Given the description of an element on the screen output the (x, y) to click on. 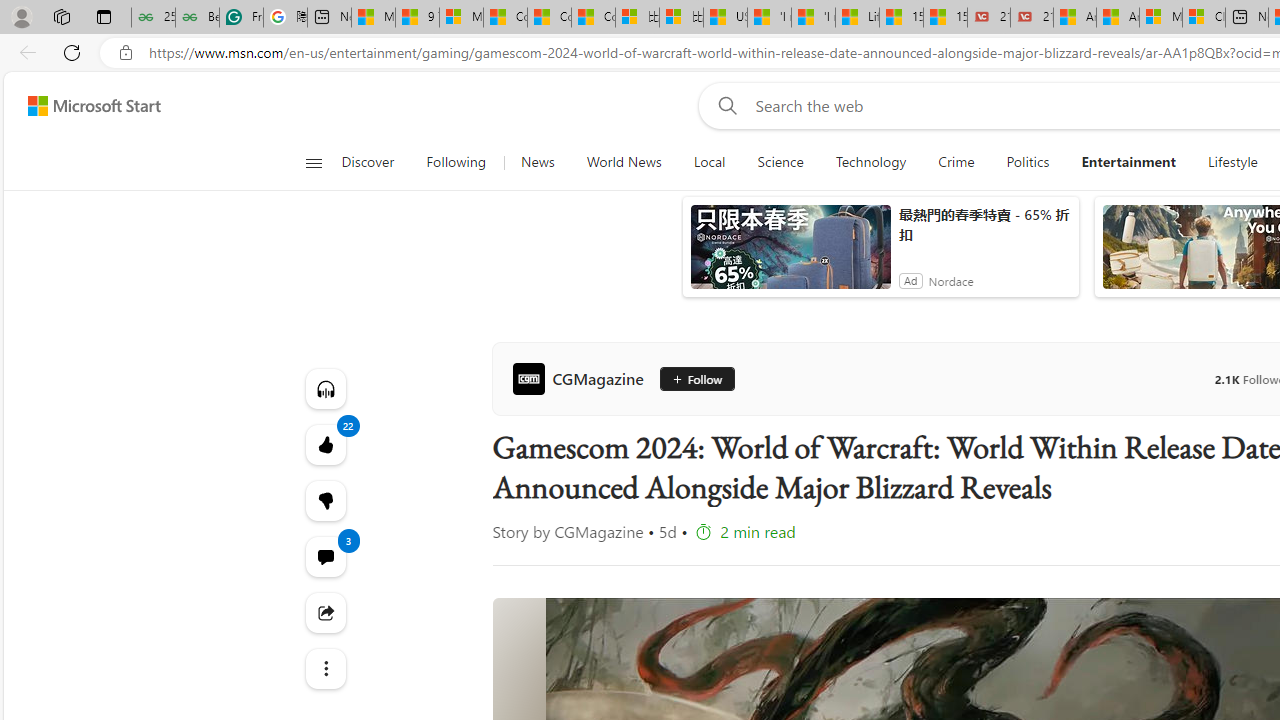
Listen to this article (324, 388)
Cloud Computing Services | Microsoft Azure (1203, 17)
Politics (1027, 162)
USA TODAY - MSN (725, 17)
